Given the description of an element on the screen output the (x, y) to click on. 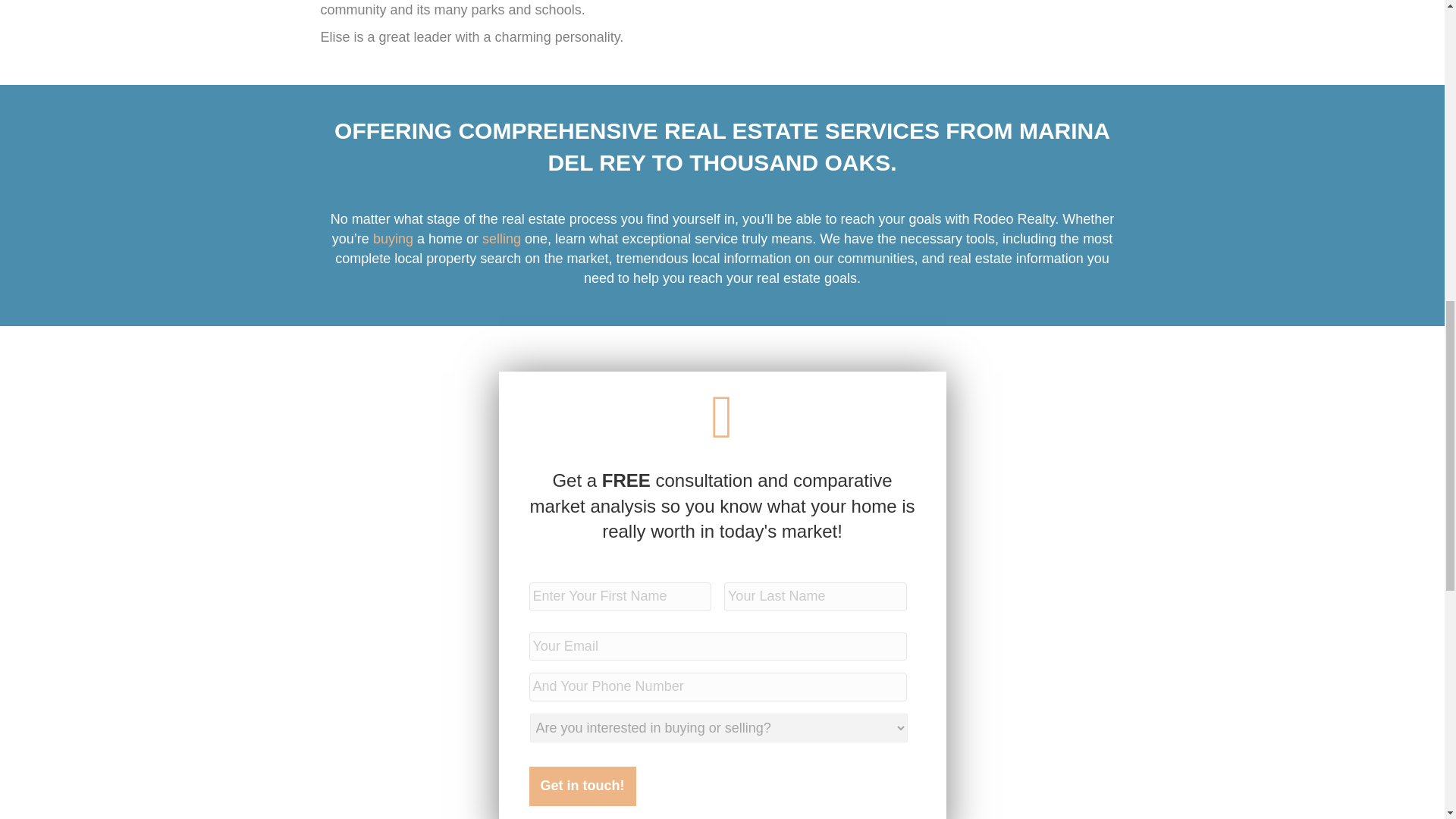
buying (392, 238)
Get in touch! (582, 785)
Get in touch! (582, 785)
selling (501, 238)
